Given the description of an element on the screen output the (x, y) to click on. 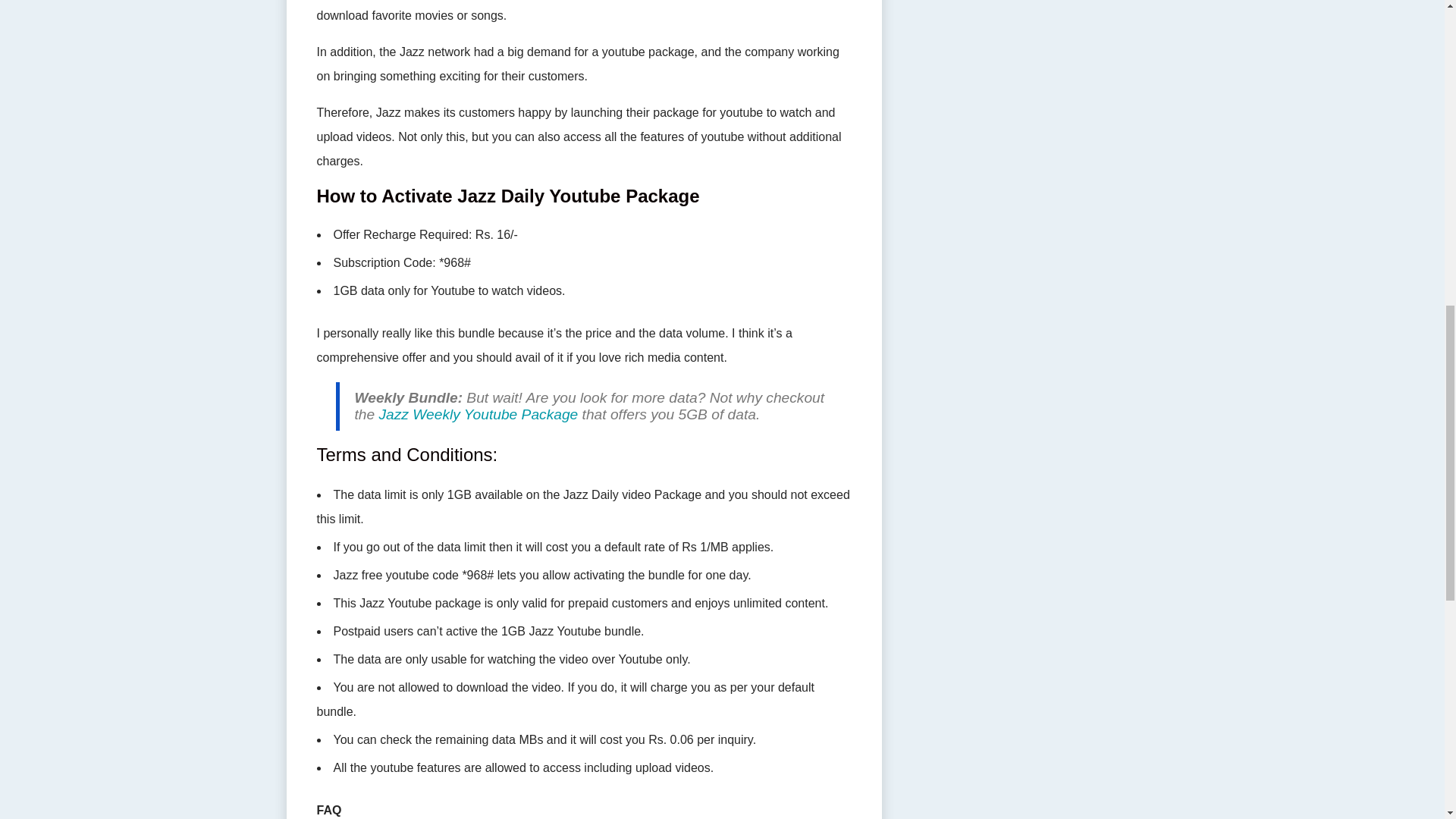
Jazz Weekly Youtube Package (478, 414)
Scroll back to top (1406, 720)
